Given the description of an element on the screen output the (x, y) to click on. 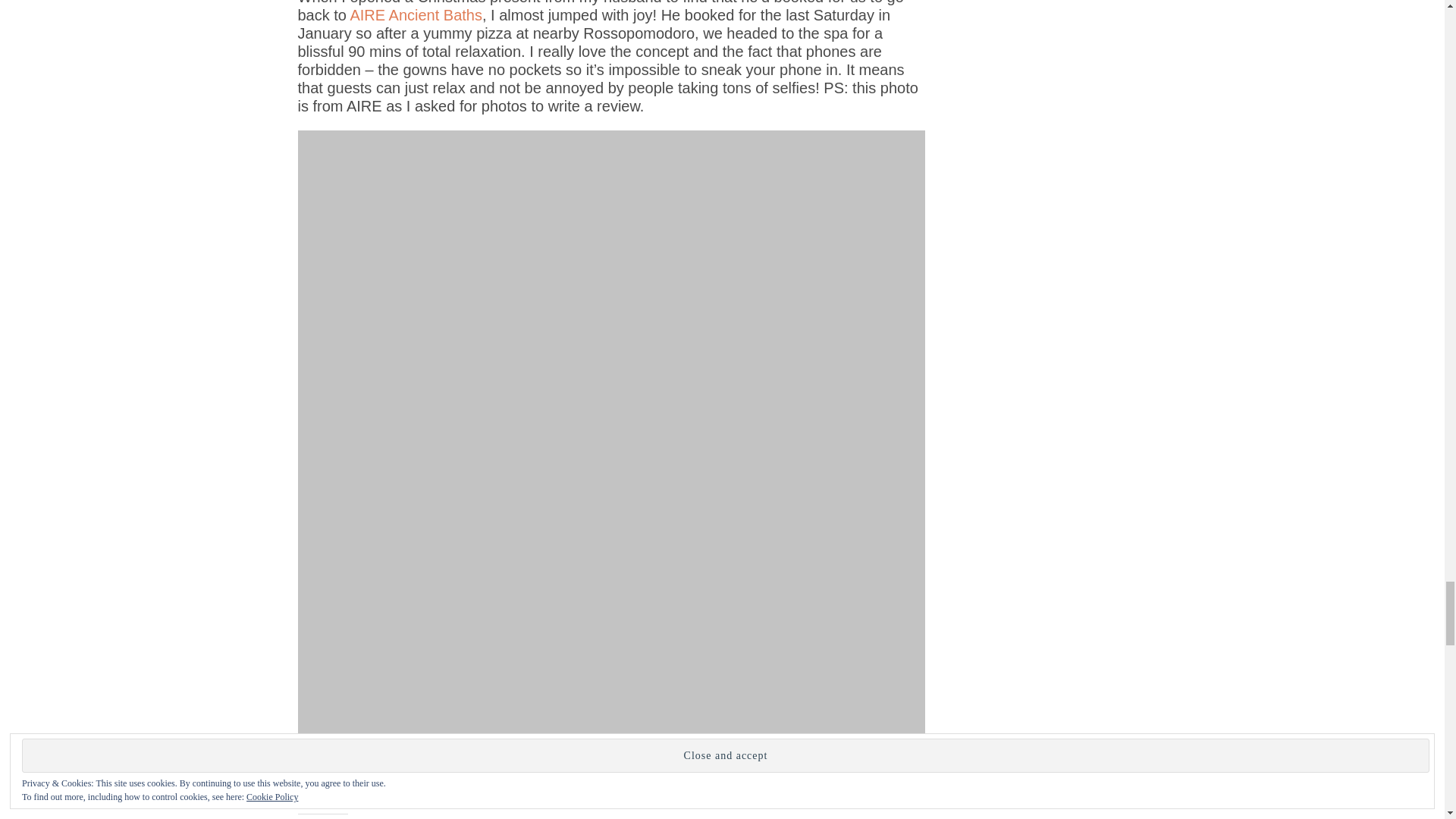
AIRE Ancient Baths (415, 14)
